Given the description of an element on the screen output the (x, y) to click on. 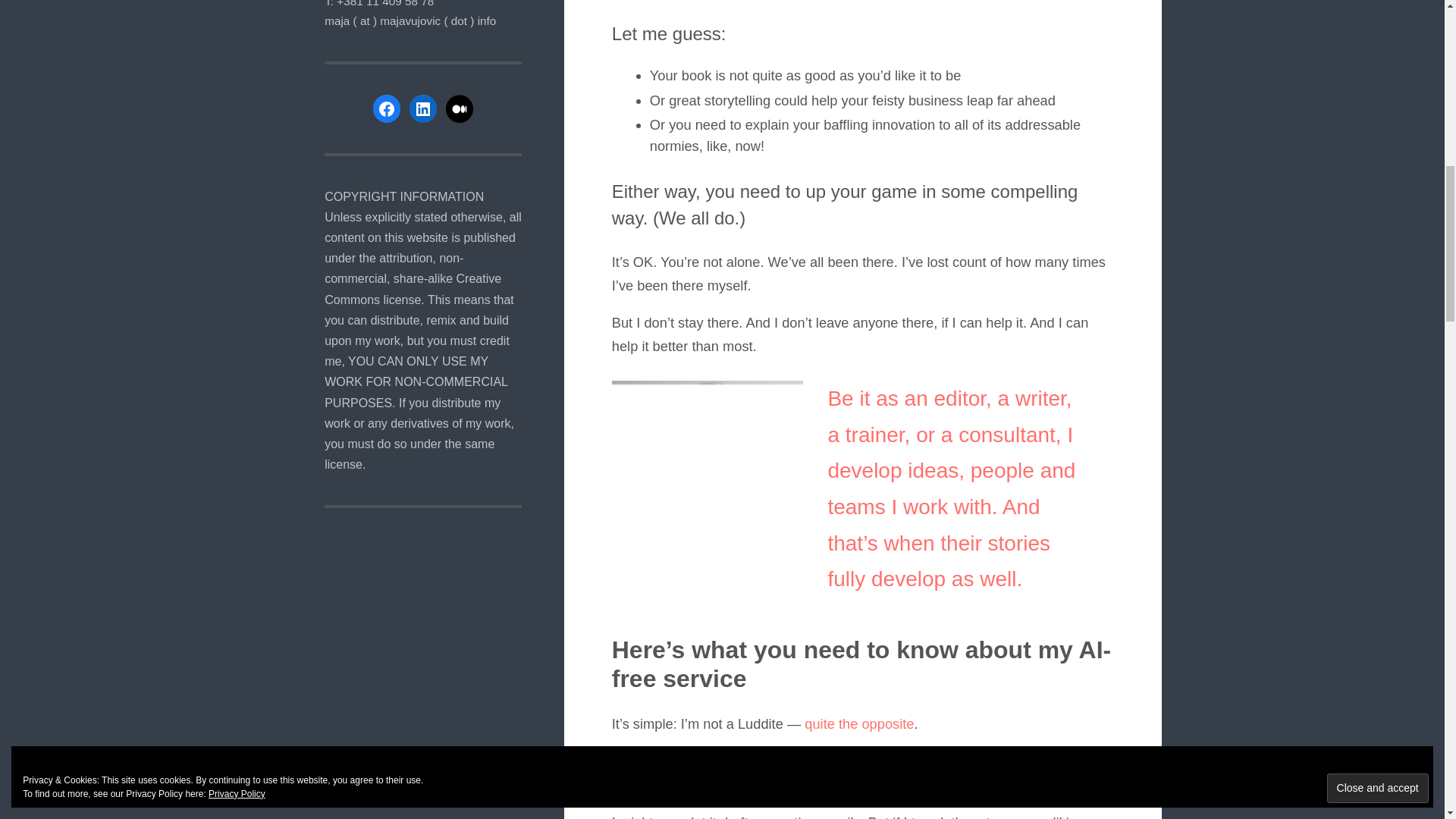
Link to my personal profile on Facebook (386, 108)
Link to my profile on Medium (459, 108)
Link to my profile on LinkedIn (422, 108)
consultant (1006, 434)
editor (960, 398)
writer (1039, 398)
trainer (874, 434)
quite the opposite (859, 723)
